Given the description of an element on the screen output the (x, y) to click on. 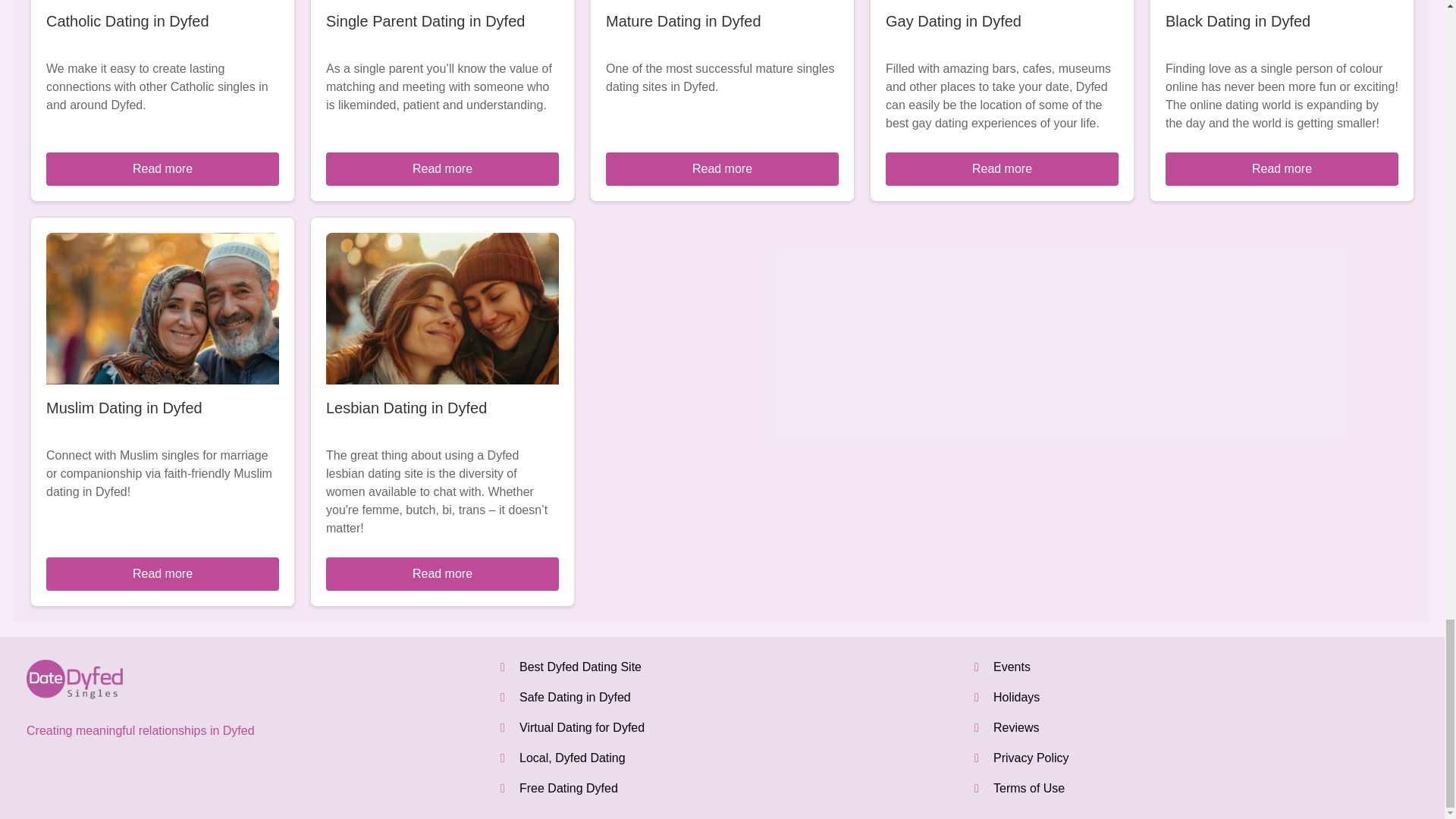
Read more (721, 168)
Terms of Use (1028, 788)
Free Dating Dyfed (568, 788)
Events (1011, 666)
Read more (442, 168)
Read more (1001, 168)
Read more (162, 168)
Read more (1281, 168)
Holidays (1015, 697)
Virtual Dating for Dyfed (582, 727)
